Given the description of an element on the screen output the (x, y) to click on. 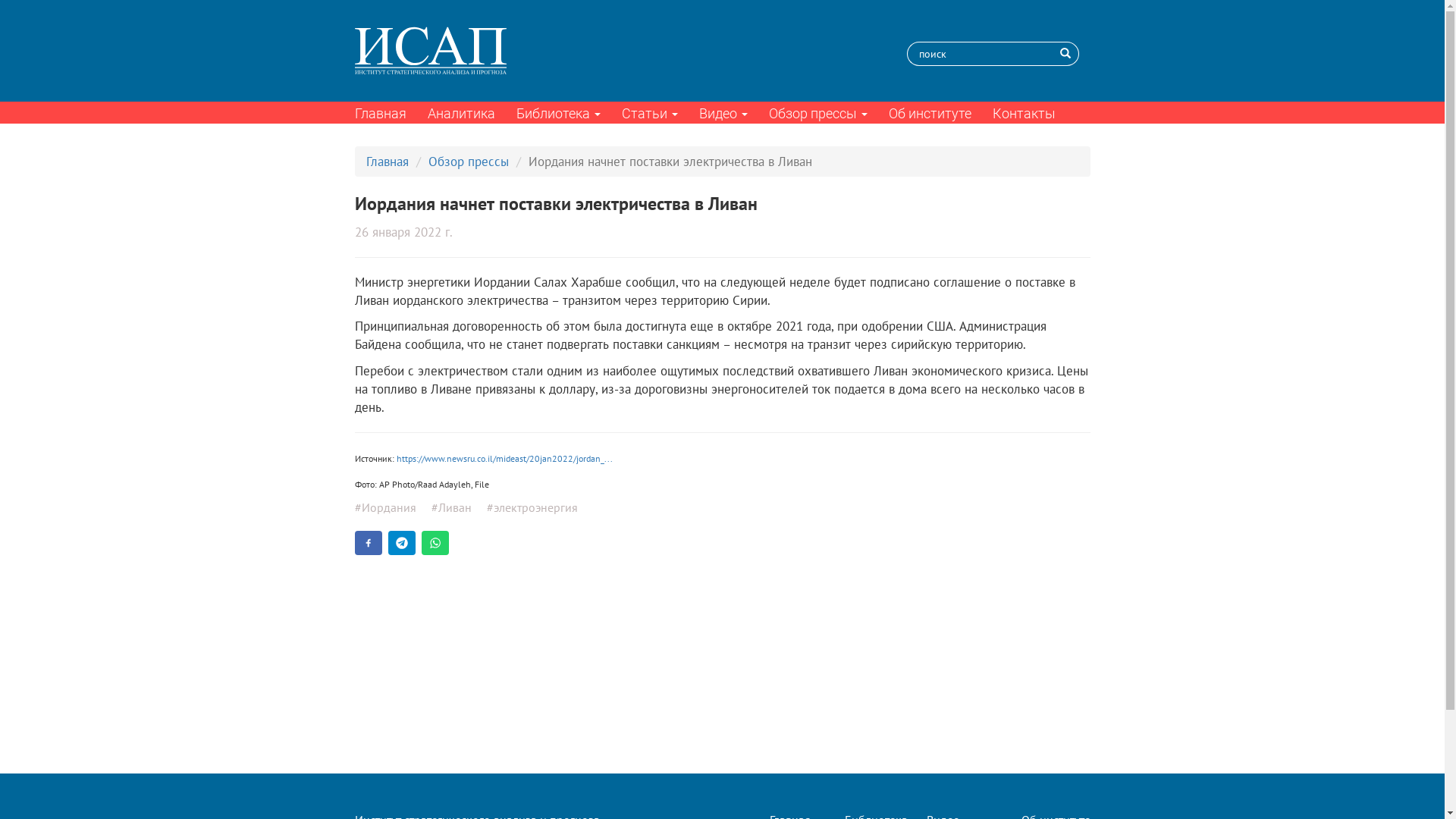
https://www.newsru.co.il/mideast/20jan2022/jordan_... Element type: text (503, 458)
